Given the description of an element on the screen output the (x, y) to click on. 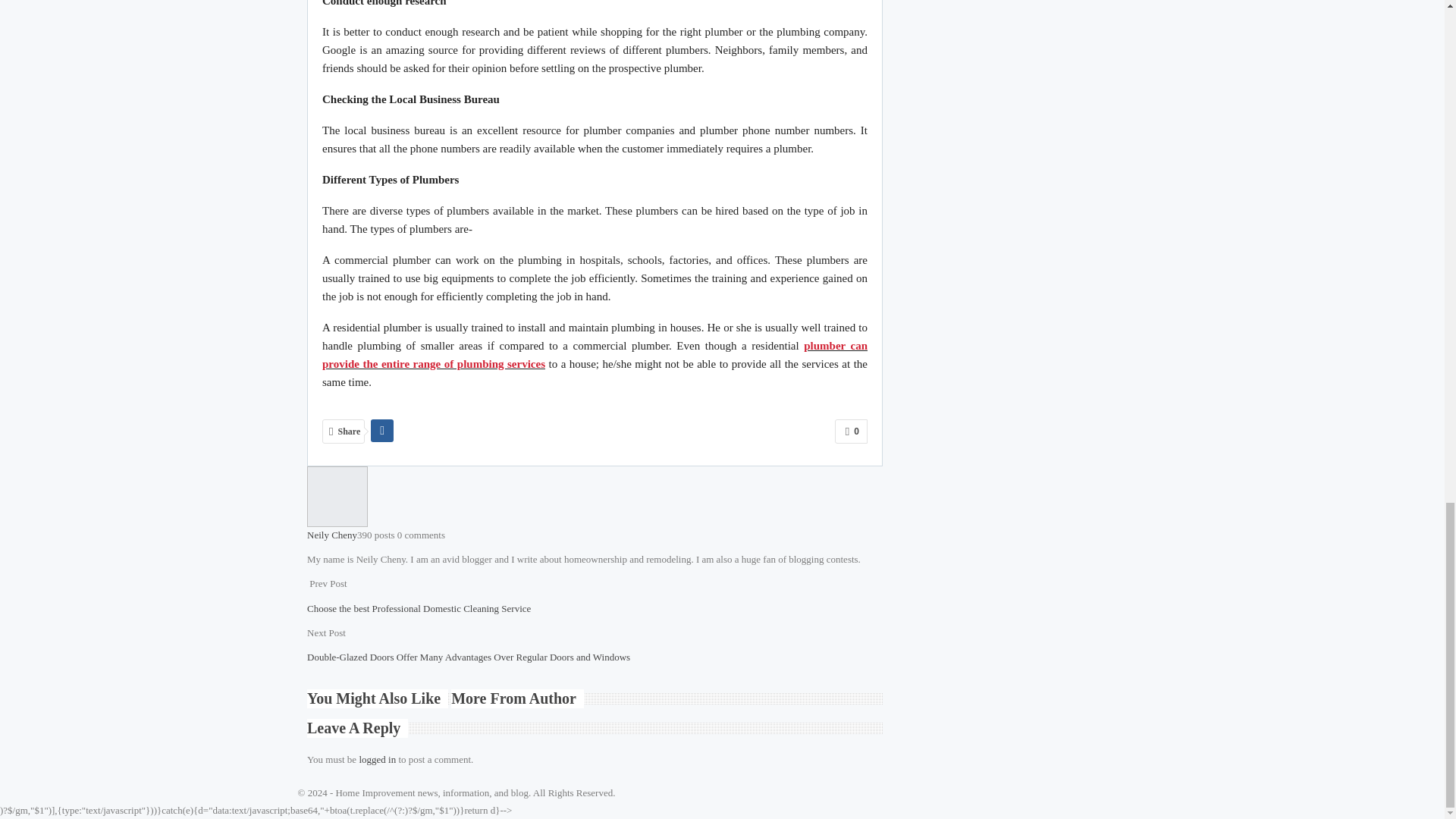
Choose the best Professional Domestic Cleaning Service (419, 608)
Browse Author Articles (337, 495)
You Might Also Like (379, 698)
0 (850, 431)
More From Author (517, 698)
plumber can provide the entire range of plumbing services (594, 354)
Neily Cheny (331, 534)
